Given the description of an element on the screen output the (x, y) to click on. 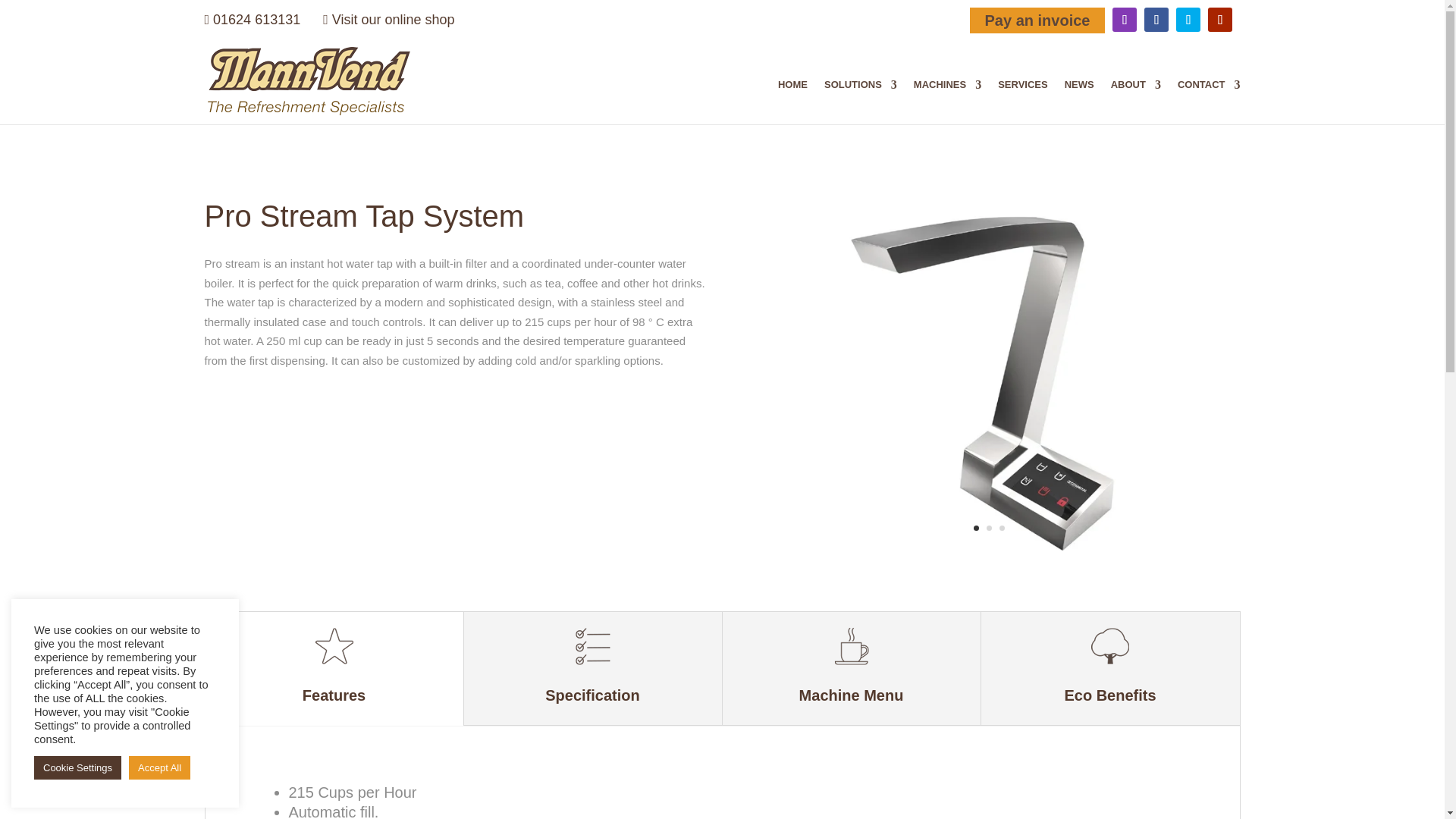
SOLUTIONS (860, 101)
Visit our online shop (388, 19)
instagram (1124, 19)
Youtube (1219, 19)
MACHINES (947, 101)
facebook (1156, 19)
Twitter (1187, 19)
Pay an invoice (1037, 20)
SERVICES (1022, 101)
